Given the description of an element on the screen output the (x, y) to click on. 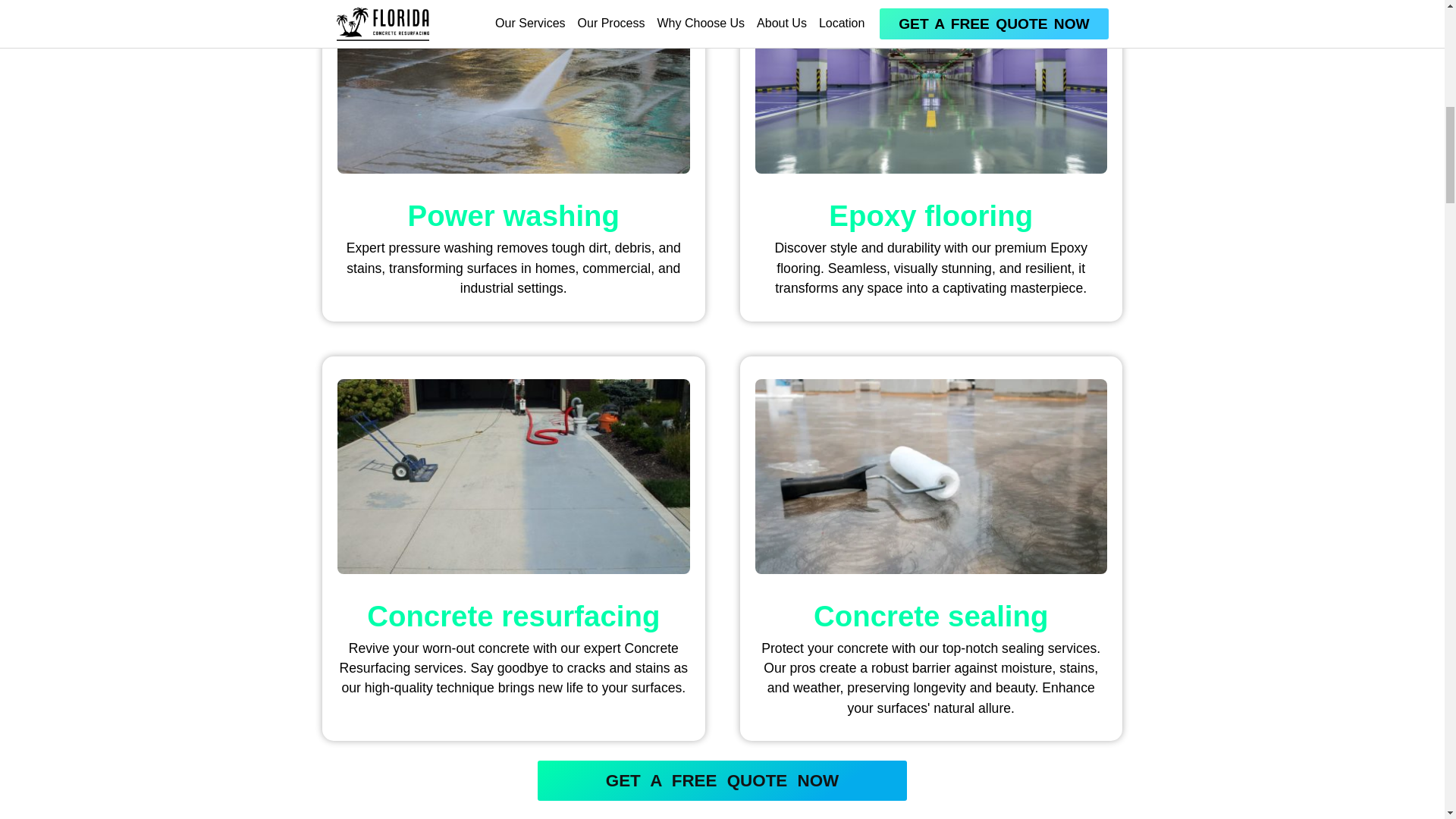
estacionamento-roxo-scaled.jpg (930, 86)
GET A FREE QUOTE NOW (722, 780)
Concrete-Sealers.webp (930, 476)
